Given the description of an element on the screen output the (x, y) to click on. 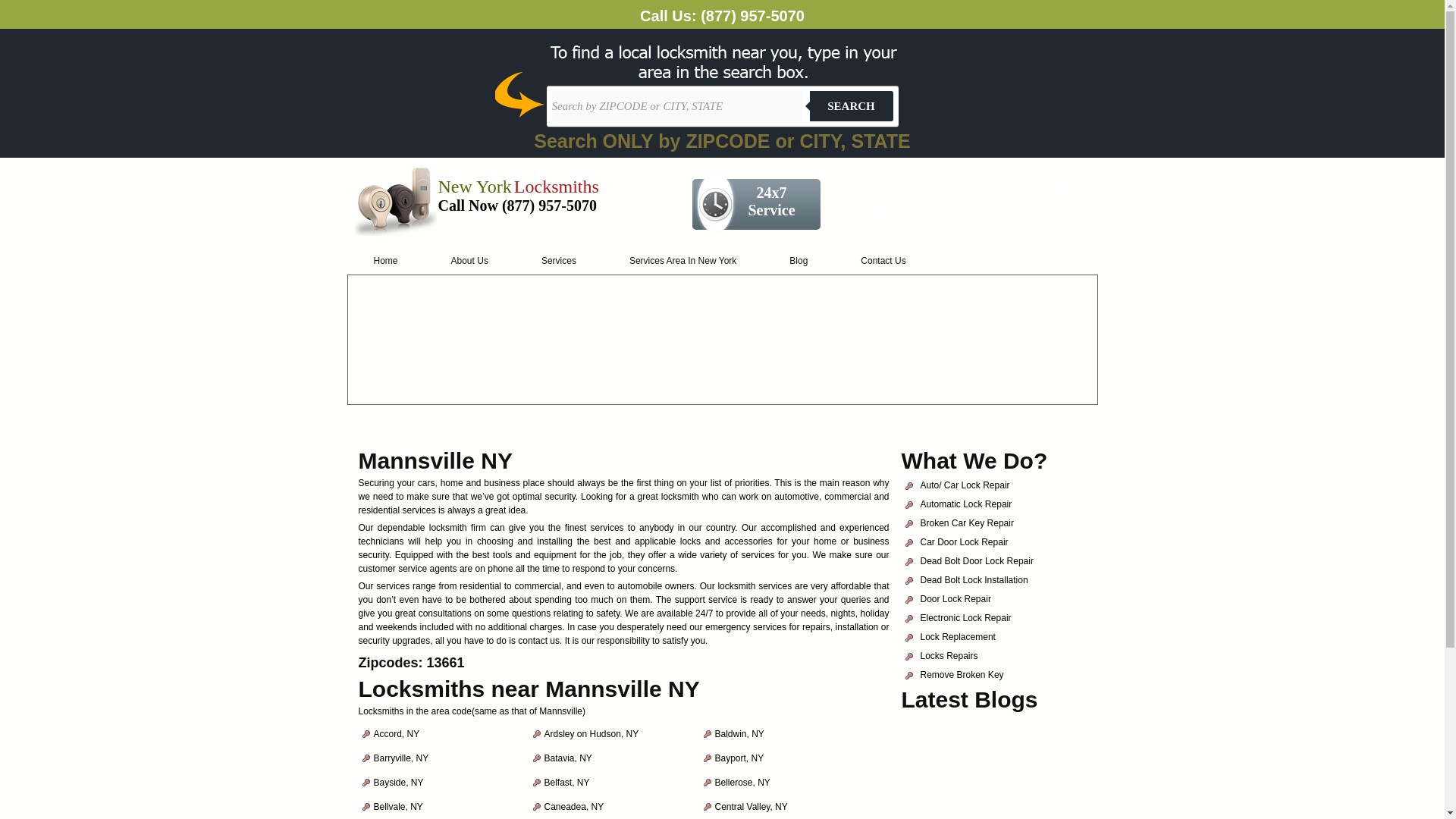
Bayside, NY (397, 782)
Blog (798, 260)
Central Valley, NY (750, 806)
Home (386, 260)
Baldwin, NY (738, 733)
Contact Us (882, 260)
Accord, NY (395, 733)
Ardsley on Hudson, NY (591, 733)
